Given the description of an element on the screen output the (x, y) to click on. 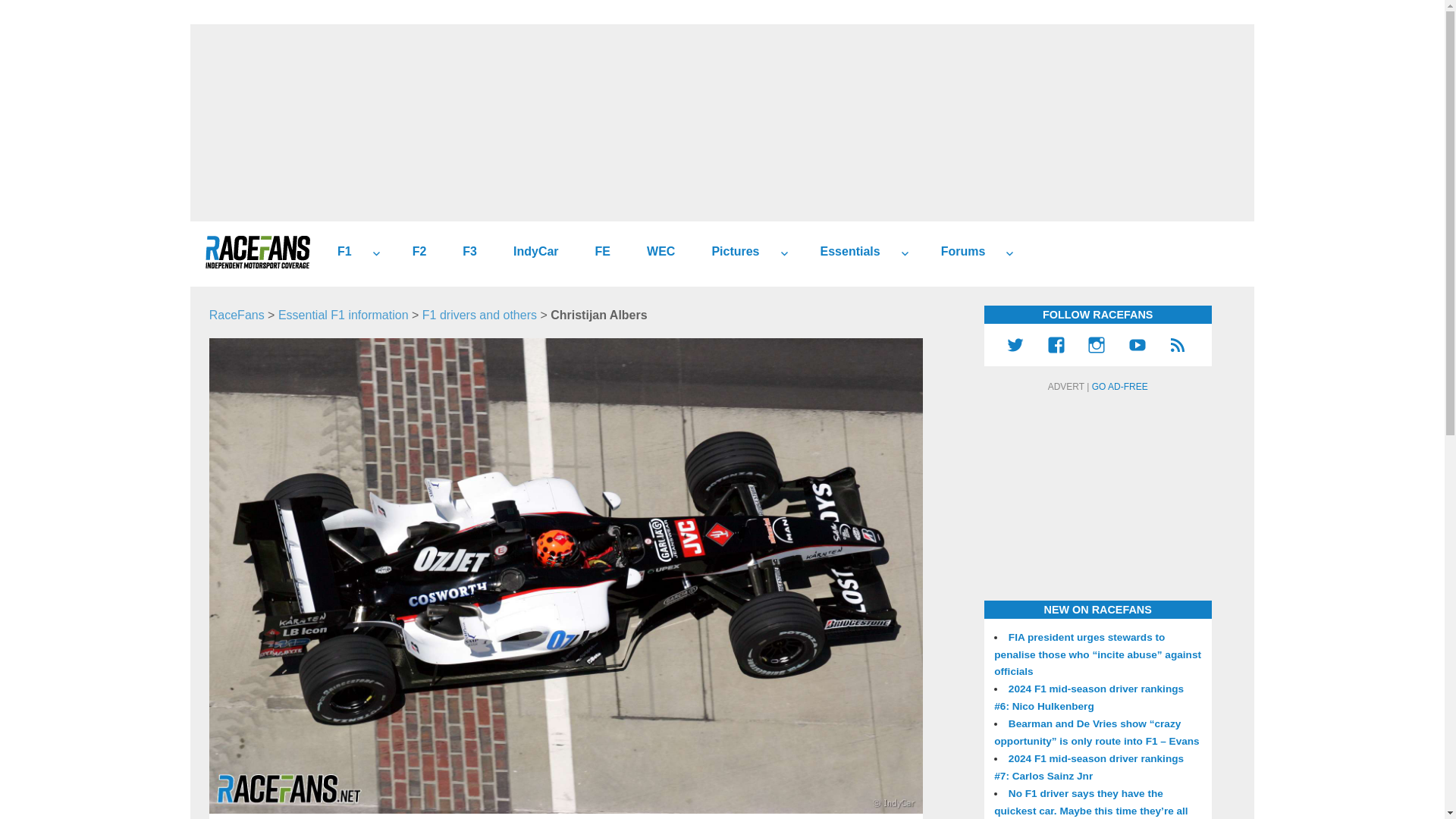
World Endurance Championship (655, 251)
F1 (338, 251)
Essentials (844, 251)
expand child menu (783, 253)
WEC (655, 251)
F3 (463, 251)
Formula 1 (338, 251)
expand child menu (904, 253)
IndyCar (529, 251)
FE (596, 251)
